Given the description of an element on the screen output the (x, y) to click on. 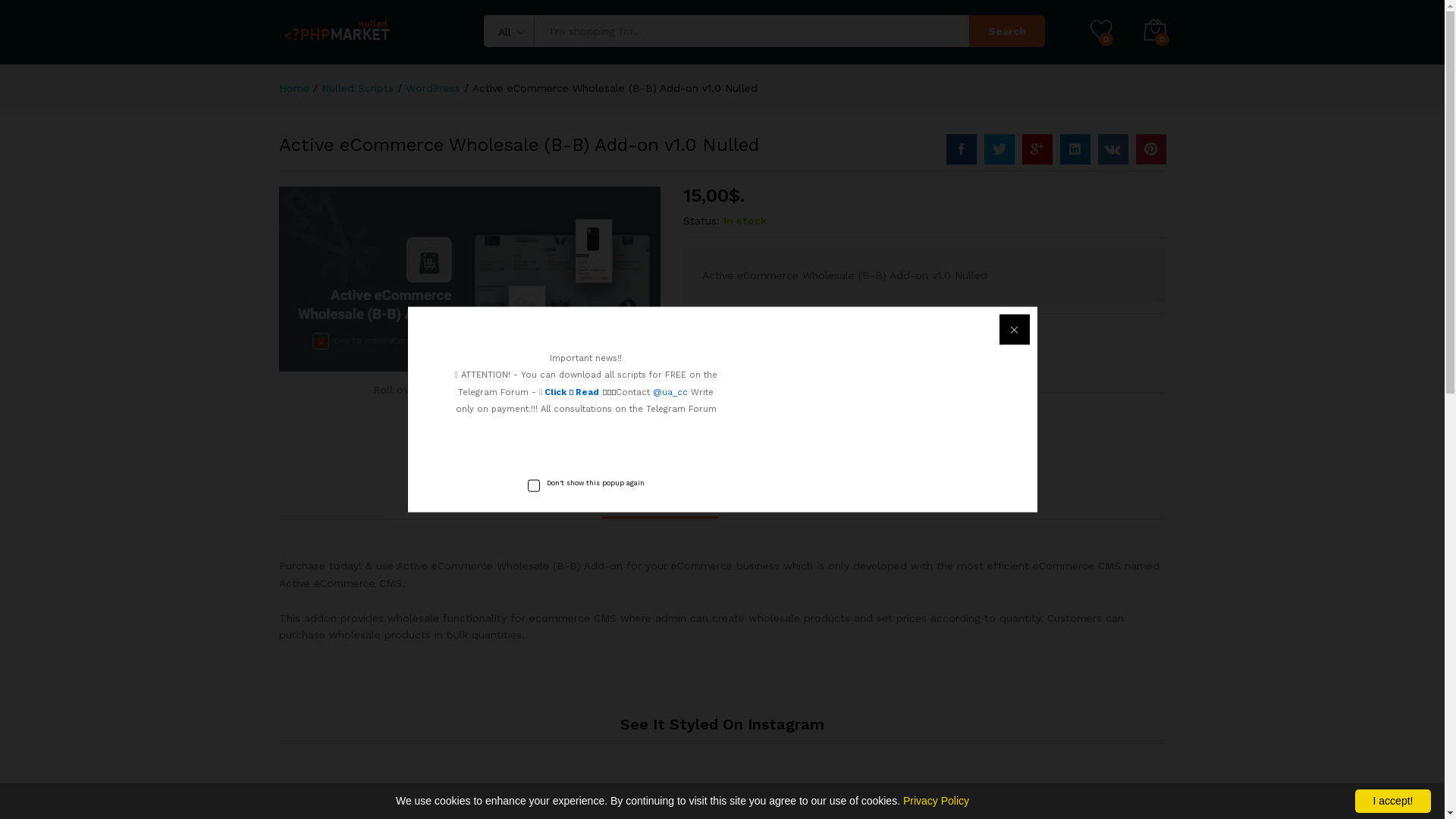
Add to cart Element type: text (859, 349)
Active eCommerce Wholesale (B-B) Add-on v1.0 Nulled Element type: hover (961, 149)
Active+eCommerce+Wholesale+%28B-B%29+Add-on+v1.0+Nulled Element type: hover (1037, 149)
Search Element type: text (1006, 31)
Don't show this popup again Element type: text (585, 481)
0 Element type: text (1154, 30)
@ua_cc Element type: text (669, 391)
Add to wishlist Element type: hover (962, 349)
WordPress Element type: text (431, 87)
Reviews (0) Element type: text (781, 497)
Nulled Scripts Element type: text (357, 87)
WordPress Element type: text (770, 412)
Active+eCommerce+Wholesale+%28B-B%29+Add-on+v1.0+Nulled Element type: hover (1150, 149)
Active eCommerce Wholesale (B-B) Add-on v1.0 Nulled Element type: hover (469, 278)
Home Element type: text (294, 87)
Active+eCommerce+Wholesale+%28B-B%29+Add-on+v1.0+Nulled Element type: hover (999, 149)
Active+eCommerce+Wholesale+%28B-B%29+Add-on+v1.0+Nulled Element type: hover (1113, 149)
Wordpress Plugins Nulled Element type: text (870, 412)
Active+eCommerce+Wholesale+%28B-B%29+Add-on+v1.0+Nulled Element type: hover (1075, 149)
Qty Element type: hover (721, 354)
Description Element type: text (660, 497)
0 Element type: text (1101, 30)
Privacy Policy Element type: text (936, 800)
